Given the description of an element on the screen output the (x, y) to click on. 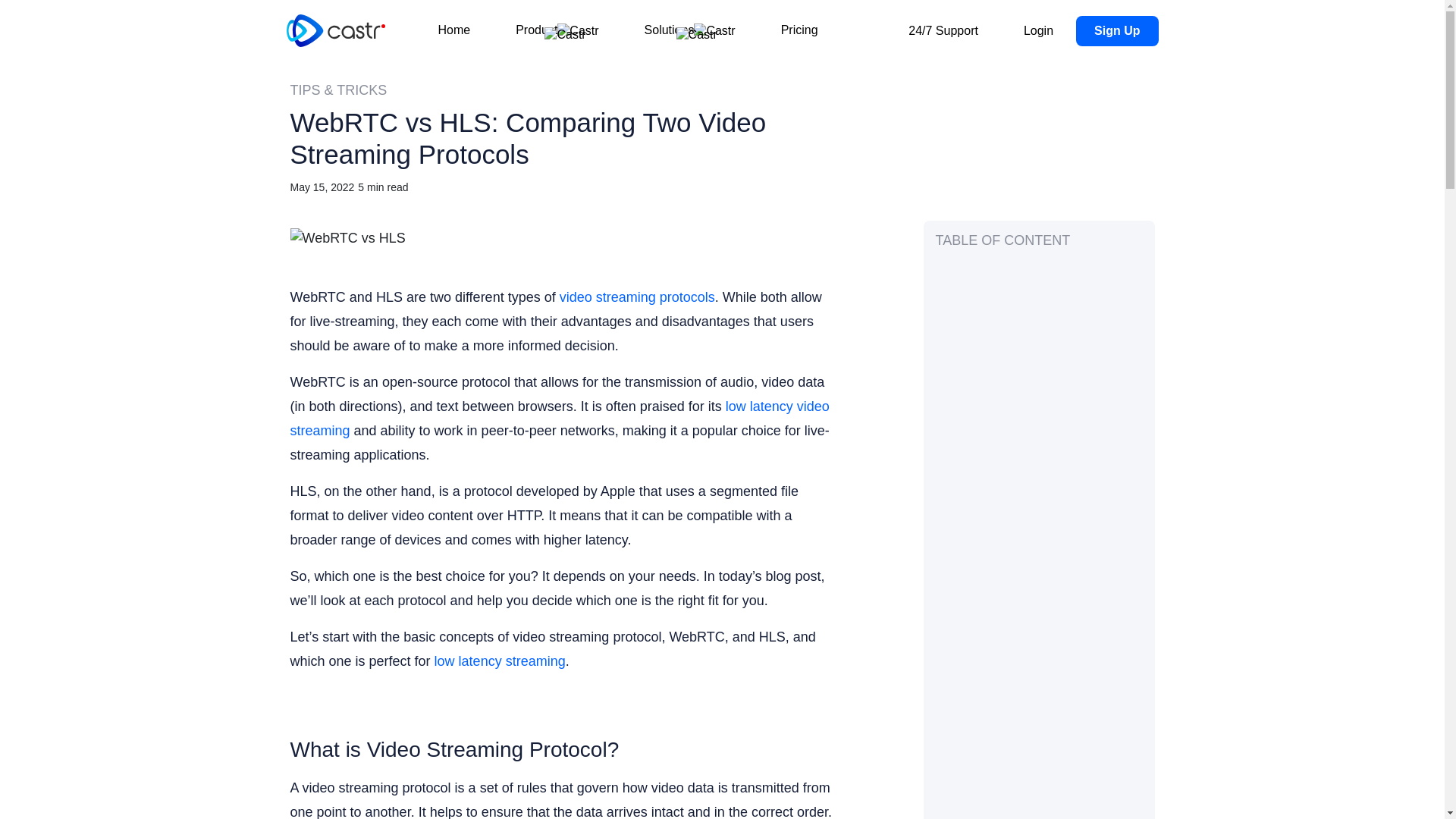
Solutions (690, 30)
Home (454, 29)
low latency video streaming (558, 418)
Sign Up (1116, 30)
video streaming protocols (636, 296)
Login (1037, 29)
low latency streaming (499, 661)
Pricing (799, 29)
Product (556, 30)
